Given the description of an element on the screen output the (x, y) to click on. 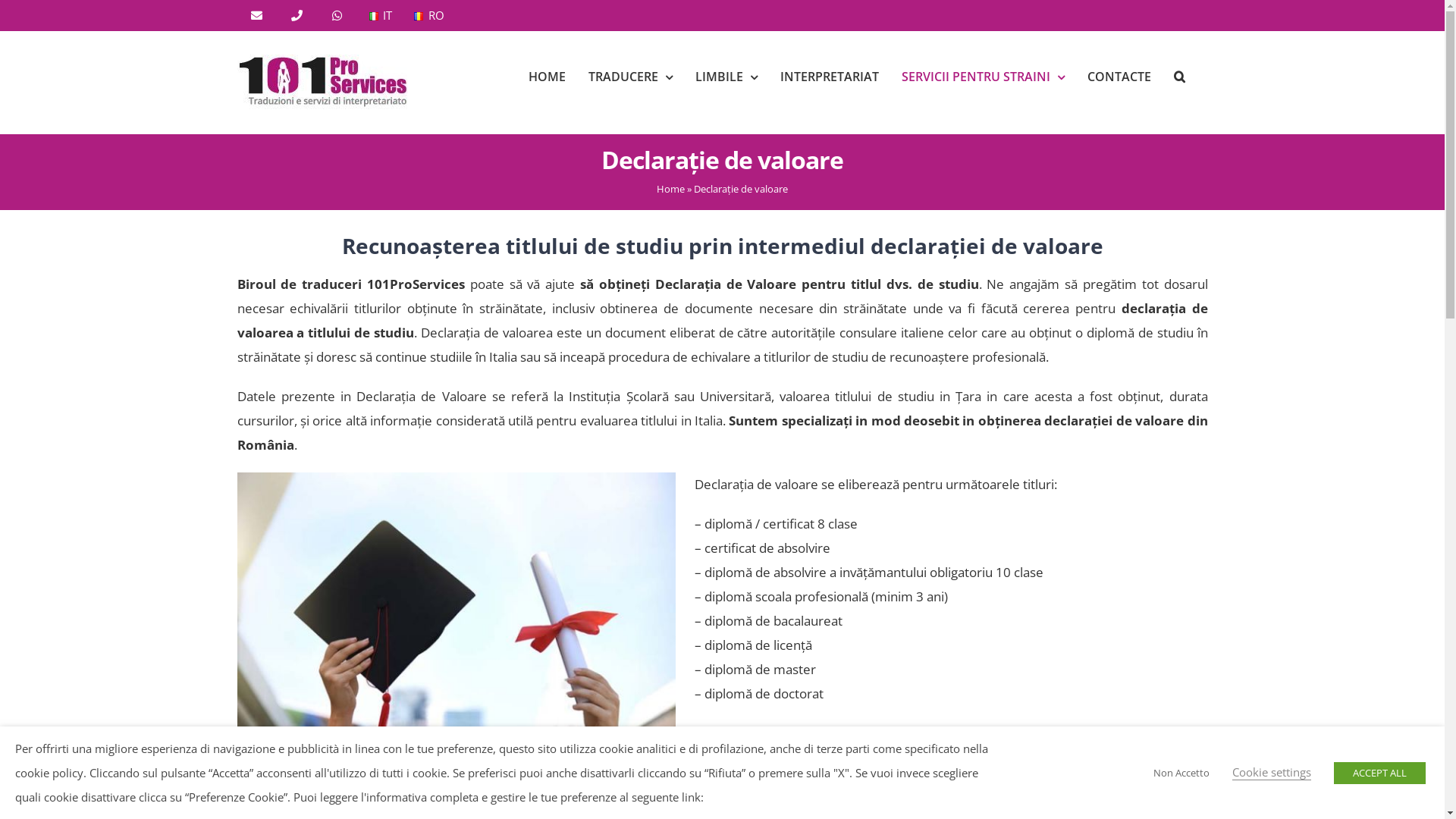
Non Accetto Element type: text (1181, 772)
IT Element type: text (379, 15)
INTERPRETARIAT Element type: text (828, 76)
HOME Element type: text (545, 76)
LIMBILE Element type: text (725, 76)
ACCEPT ALL Element type: text (1379, 772)
Cookie settings Element type: text (1271, 772)
RO Element type: text (428, 15)
CONTACTE Element type: text (1119, 76)
SERVICII PENTRU STRAINI Element type: text (981, 76)
Search Element type: hover (1179, 76)
TRADUCERE Element type: text (630, 76)
Home Element type: text (670, 188)
Scrivici su Whatsapp Element type: hover (33, 785)
